Given the description of an element on the screen output the (x, y) to click on. 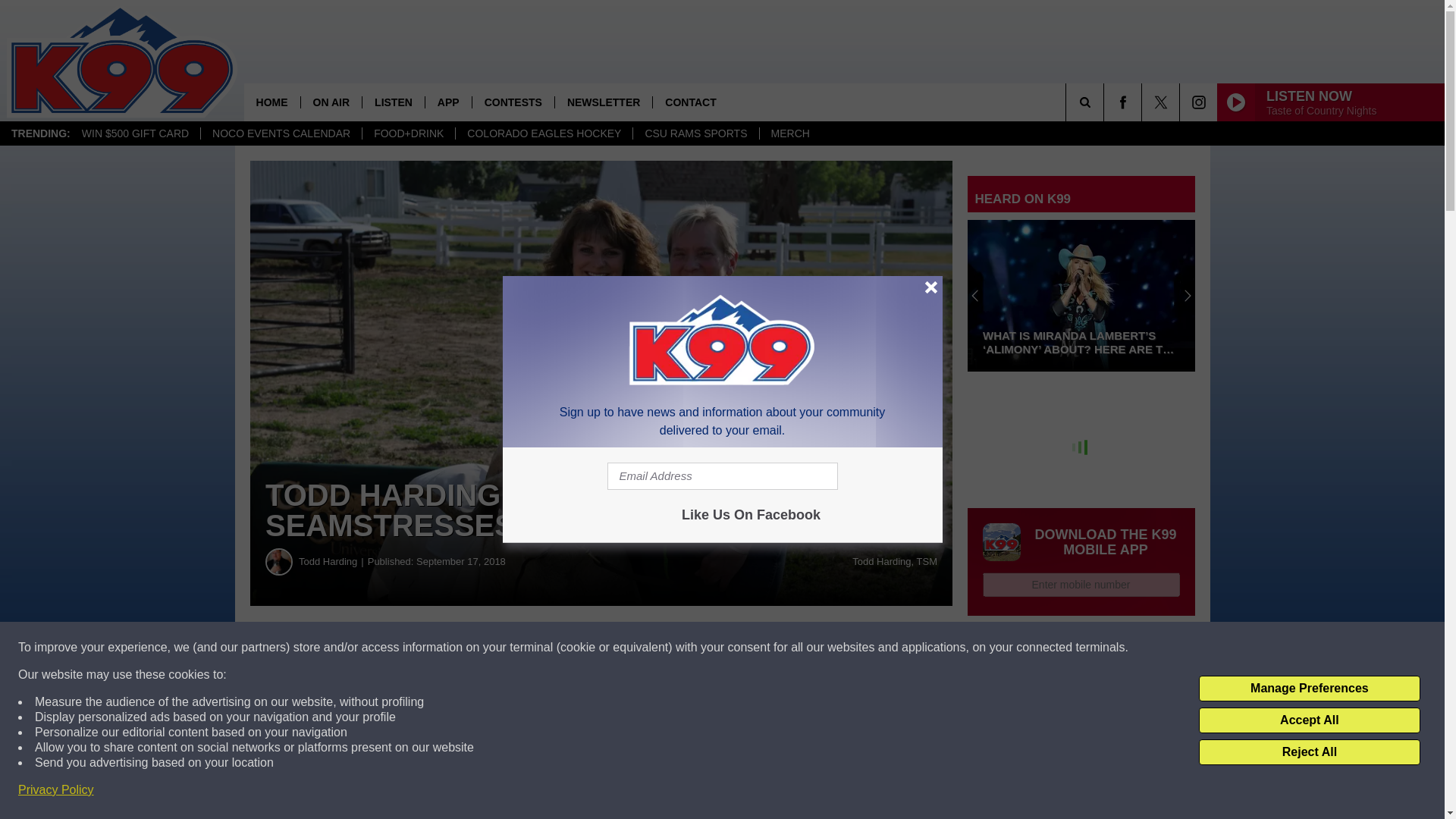
SEARCH (1106, 102)
SEARCH (1106, 102)
CONTESTS (512, 102)
CONTACT (690, 102)
Manage Preferences (1309, 688)
NOCO EVENTS CALENDAR (280, 133)
MERCH (789, 133)
Share on Facebook (460, 647)
Accept All (1309, 720)
HOME (271, 102)
Share on Twitter (741, 647)
COLORADO EAGLES HOCKEY (542, 133)
LISTEN (393, 102)
Email Address (722, 475)
Privacy Policy (55, 789)
